Given the description of an element on the screen output the (x, y) to click on. 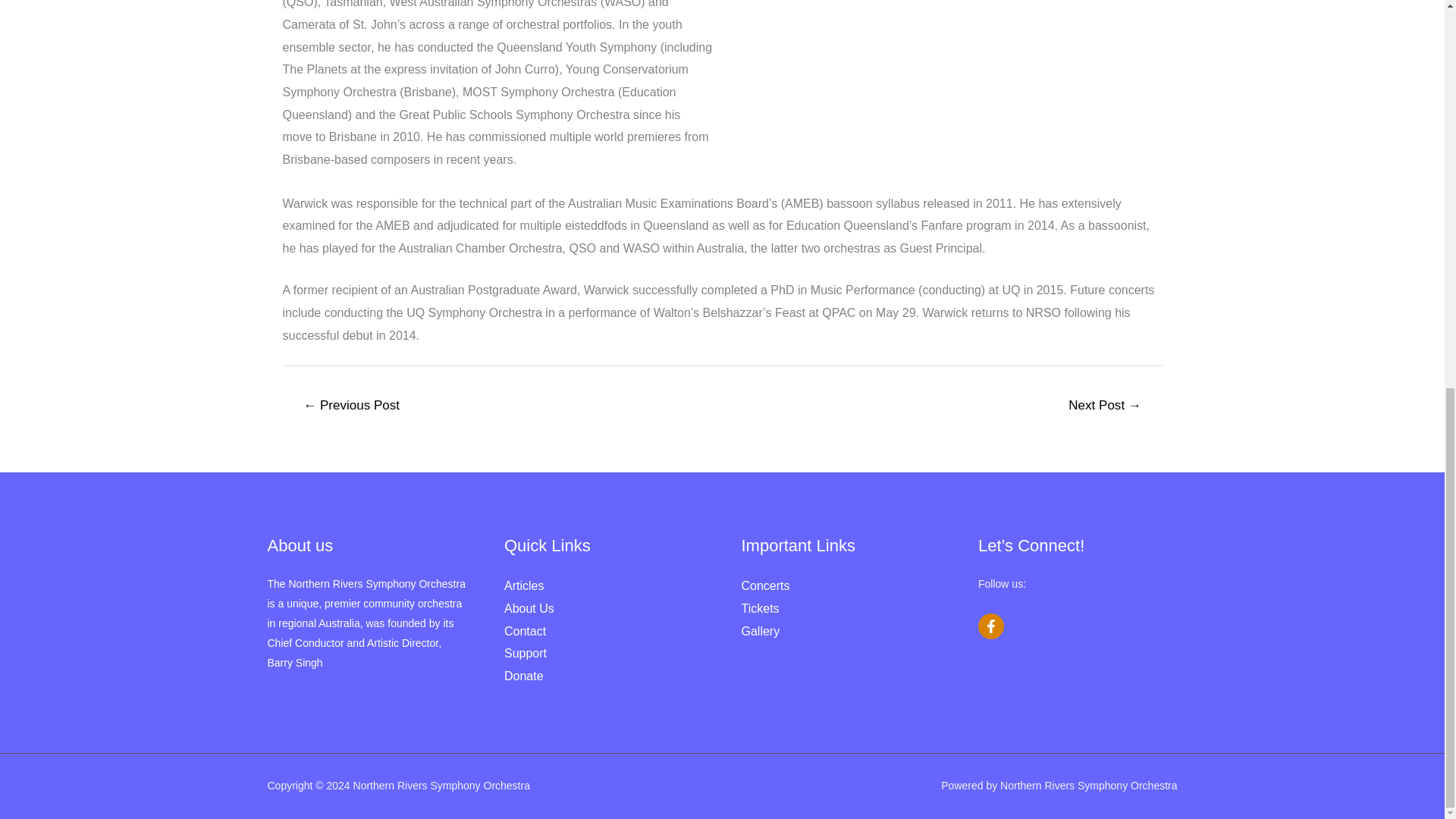
Gallery (760, 631)
Contact (524, 631)
Donate (523, 675)
Articles (523, 585)
Support (525, 653)
About Us (528, 608)
Concerts (765, 585)
Tickets (759, 608)
